Given the description of an element on the screen output the (x, y) to click on. 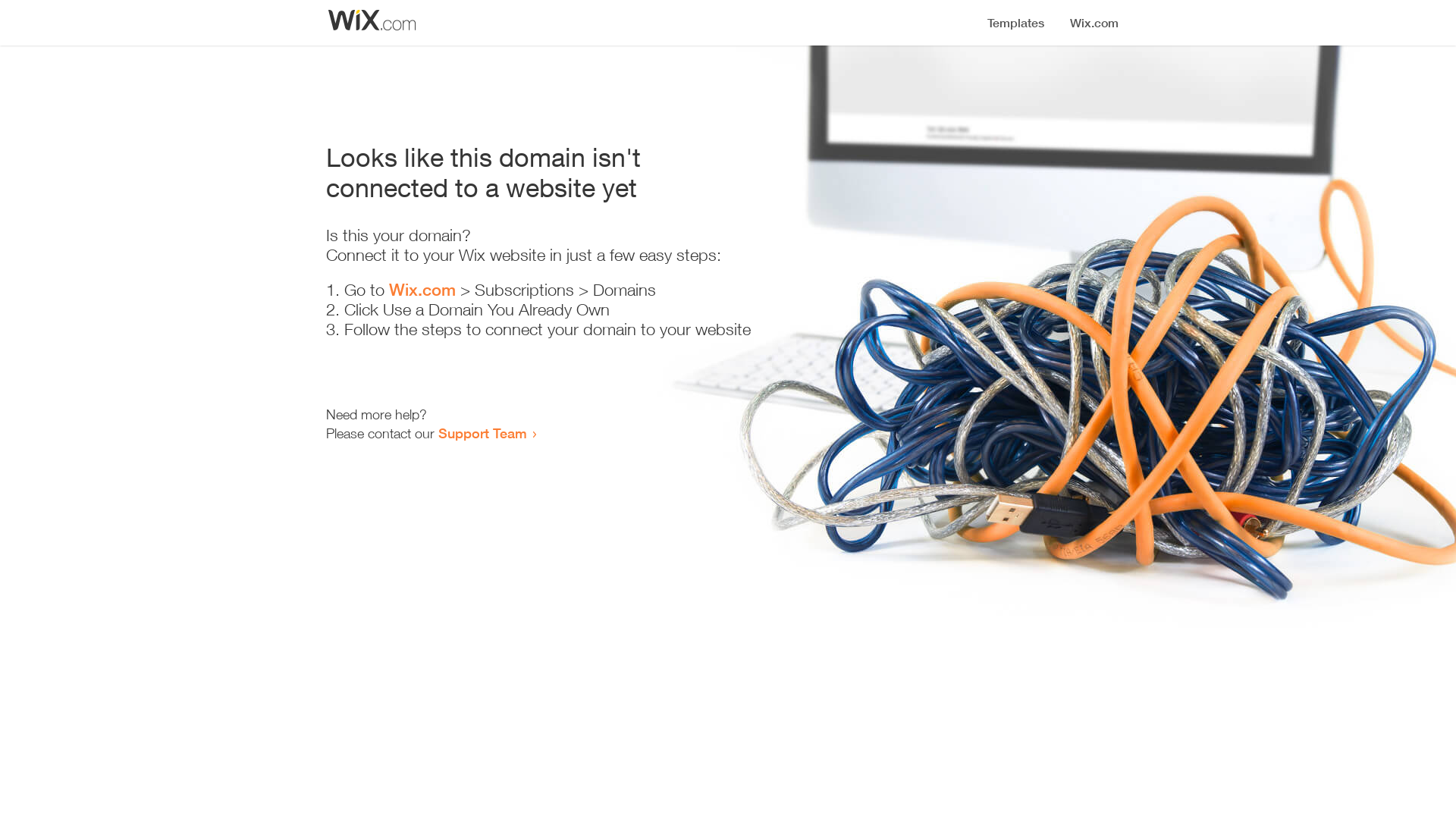
Support Team Element type: text (482, 432)
Wix.com Element type: text (422, 289)
